Given the description of an element on the screen output the (x, y) to click on. 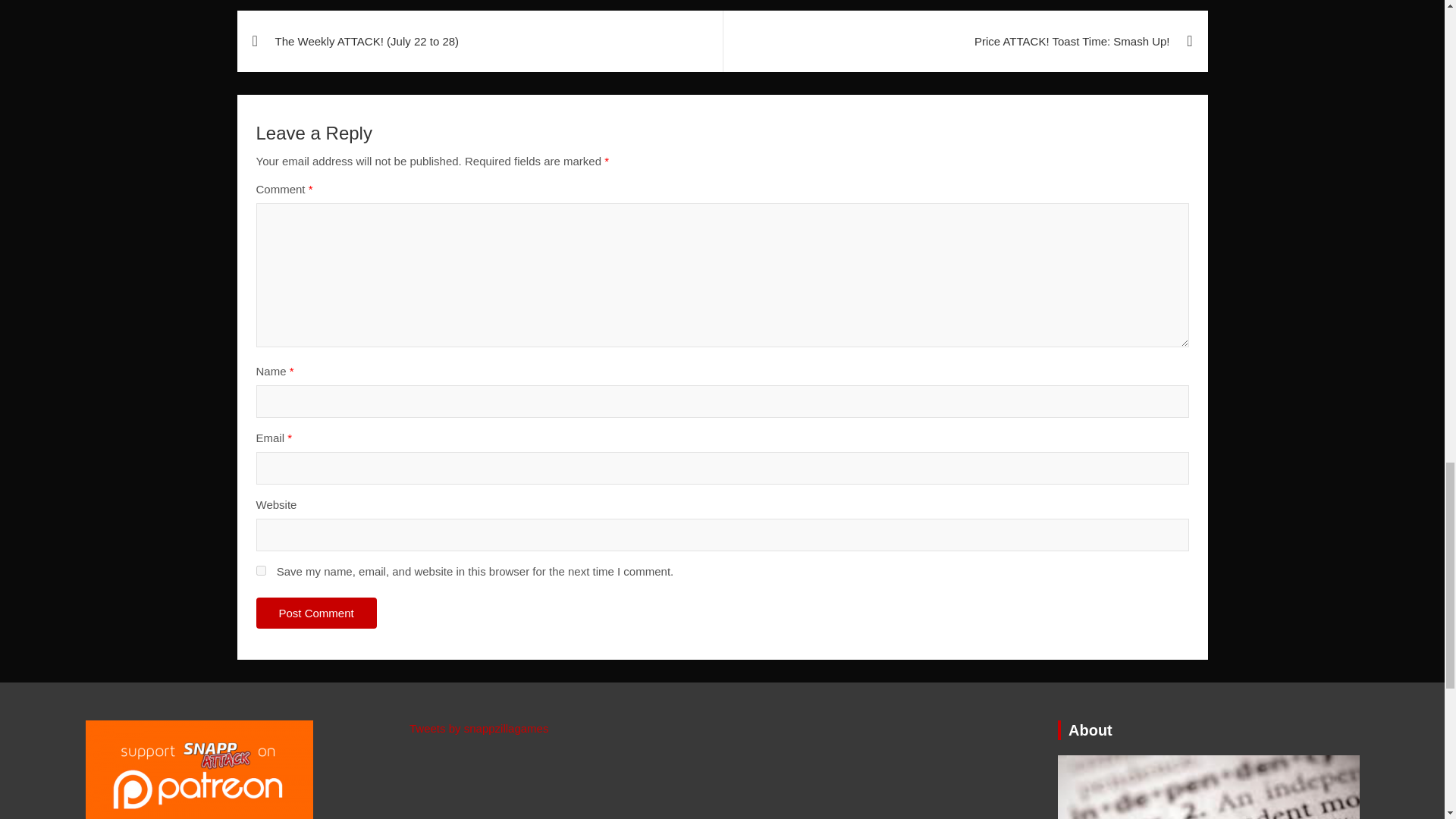
yes (261, 570)
Price ATTACK! Toast Time: Smash Up! (964, 41)
Post Comment (316, 612)
Post Comment (316, 612)
Tweets by snappzillagames (478, 727)
